Given the description of an element on the screen output the (x, y) to click on. 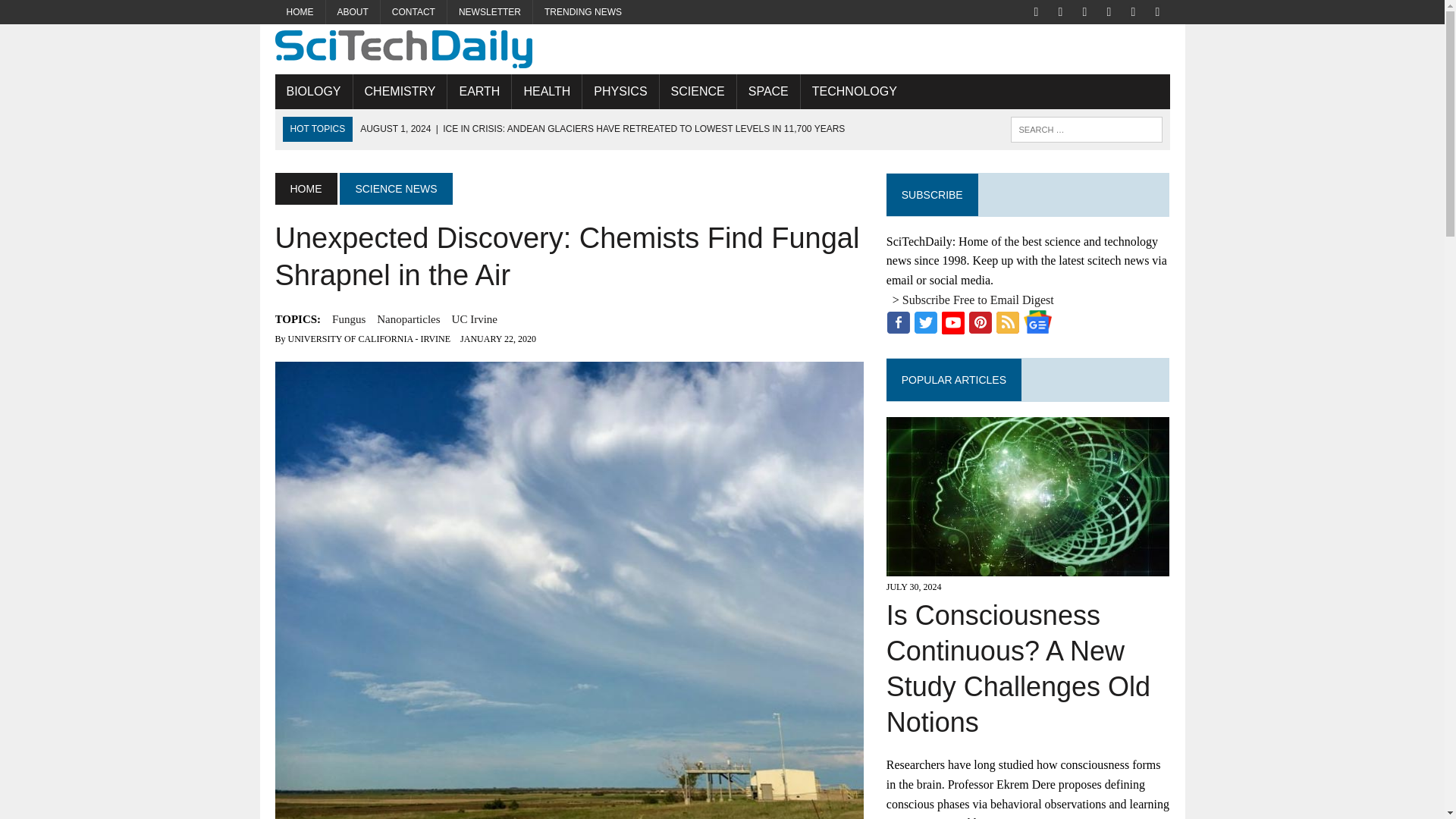
About SciTechDaily (353, 12)
TECHNOLOGY (854, 91)
SCIENCE NEWS (395, 188)
HOME (305, 188)
Search (75, 14)
TRENDING NEWS (582, 12)
Contact SciTechDaily.com (413, 12)
SPACE (767, 91)
HOME (299, 12)
EARTH (478, 91)
SciTechDaily (722, 48)
PHYSICS (620, 91)
ABOUT (353, 12)
NEWSLETTER (489, 12)
CONTACT (413, 12)
